Given the description of an element on the screen output the (x, y) to click on. 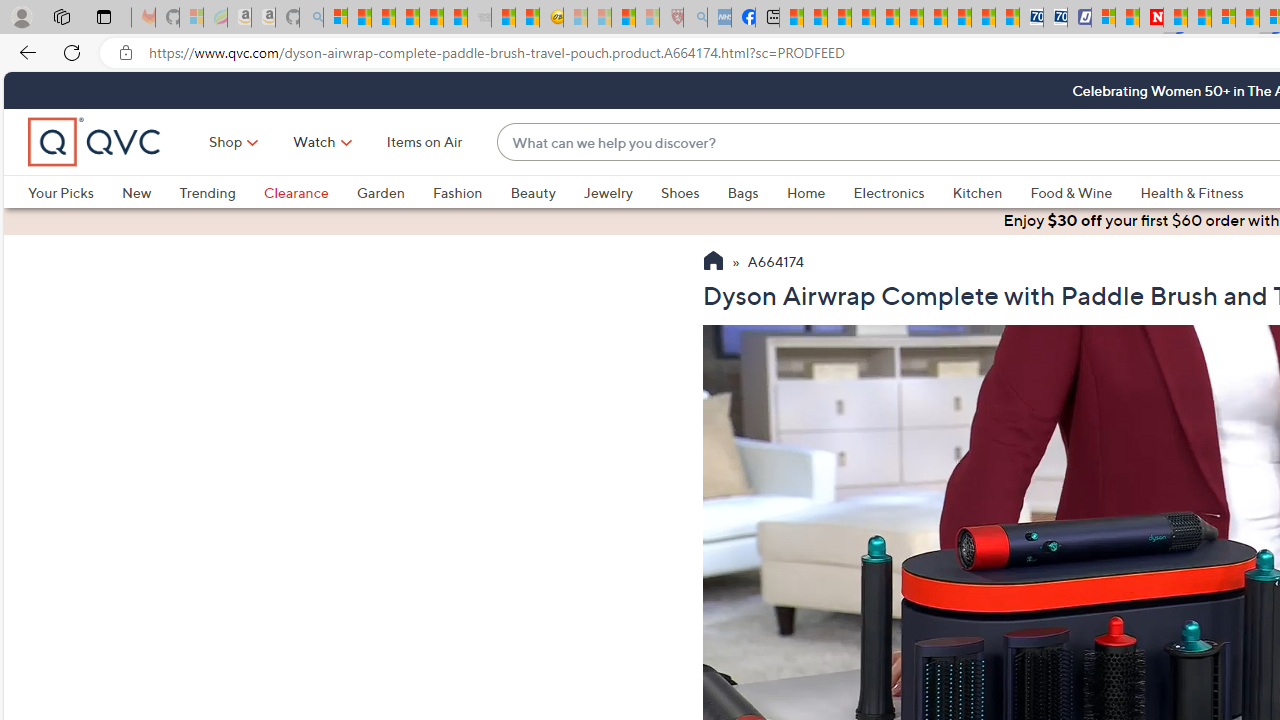
Health & Fitness (1197, 192)
Food & Wine (1085, 192)
Electronics (888, 192)
Electronics (902, 192)
Cheap Car Rentals - Save70.com (1031, 17)
New (150, 192)
World - MSN (839, 17)
Stocks - MSN (455, 17)
New (136, 192)
Clearance (295, 192)
